Given the description of an element on the screen output the (x, y) to click on. 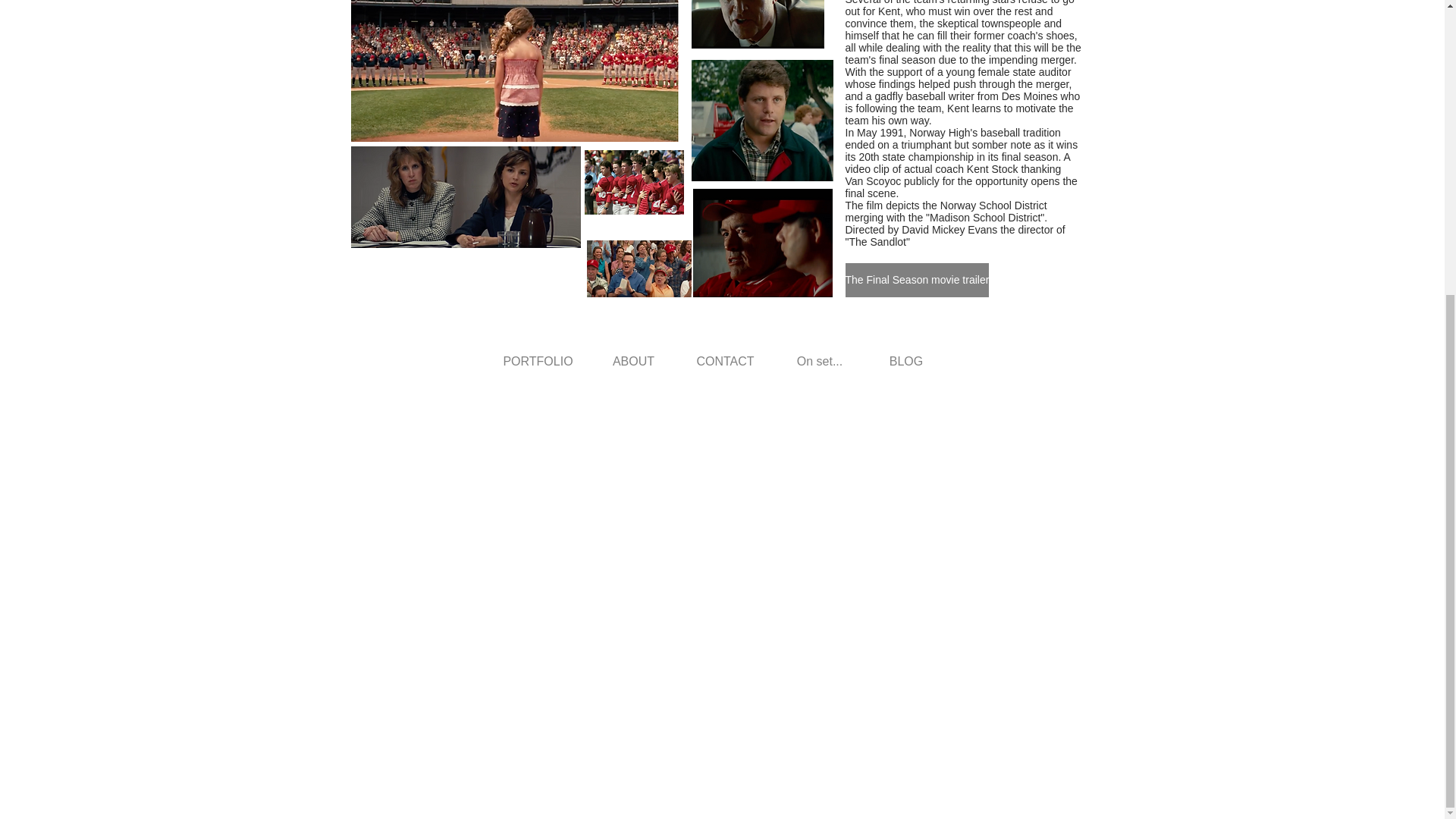
CONTACT (725, 361)
The Final Season movie trailer (916, 279)
On set... (818, 361)
ABOUT (633, 361)
PORTFOLIO (536, 361)
